Given the description of an element on the screen output the (x, y) to click on. 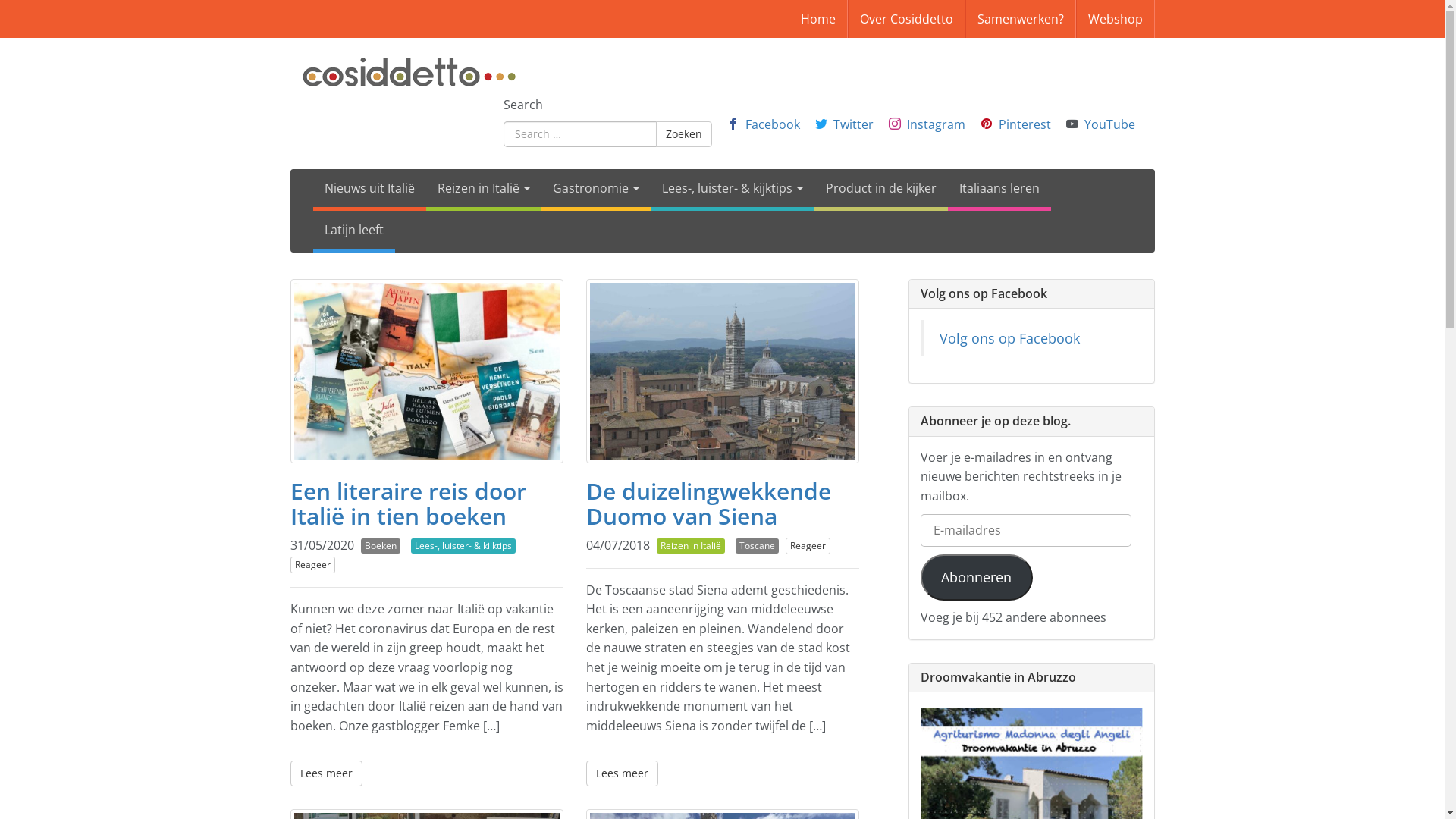
Webshop Element type: text (1114, 18)
Lees-, luister- & kijktips Element type: text (732, 189)
De duizelingwekkende Duomo van Siena Element type: text (707, 503)
Reageer Element type: text (807, 545)
Volg ons op Facebook Element type: text (1008, 338)
Gastronomie Element type: text (595, 189)
Zoeken Element type: text (683, 134)
Reageer Element type: text (311, 564)
Lees meer Element type: text (325, 773)
Facebook Element type: text (771, 123)
Zoeken naar: Element type: hover (579, 134)
Twitter Element type: text (852, 123)
Pinterest Element type: text (1023, 123)
Product in de kijker Element type: text (880, 189)
Toscane Element type: text (756, 545)
Boeken Element type: text (380, 545)
Home Element type: text (817, 18)
Volg ons op Facebook Element type: text (983, 293)
Latijn leeft Element type: text (353, 231)
Italiaans leren Element type: text (999, 189)
YouTube Element type: text (1109, 123)
Samenwerken? Element type: text (1019, 18)
Lees meer Element type: text (621, 773)
Abonneren Element type: text (976, 577)
De duizelingwekkende Duomo van Siena Element type: hover (721, 371)
Lees-, luister- & kijktips Element type: text (463, 545)
Instagram Element type: text (935, 123)
Over Cosiddetto Element type: text (906, 18)
